Given the description of an element on the screen output the (x, y) to click on. 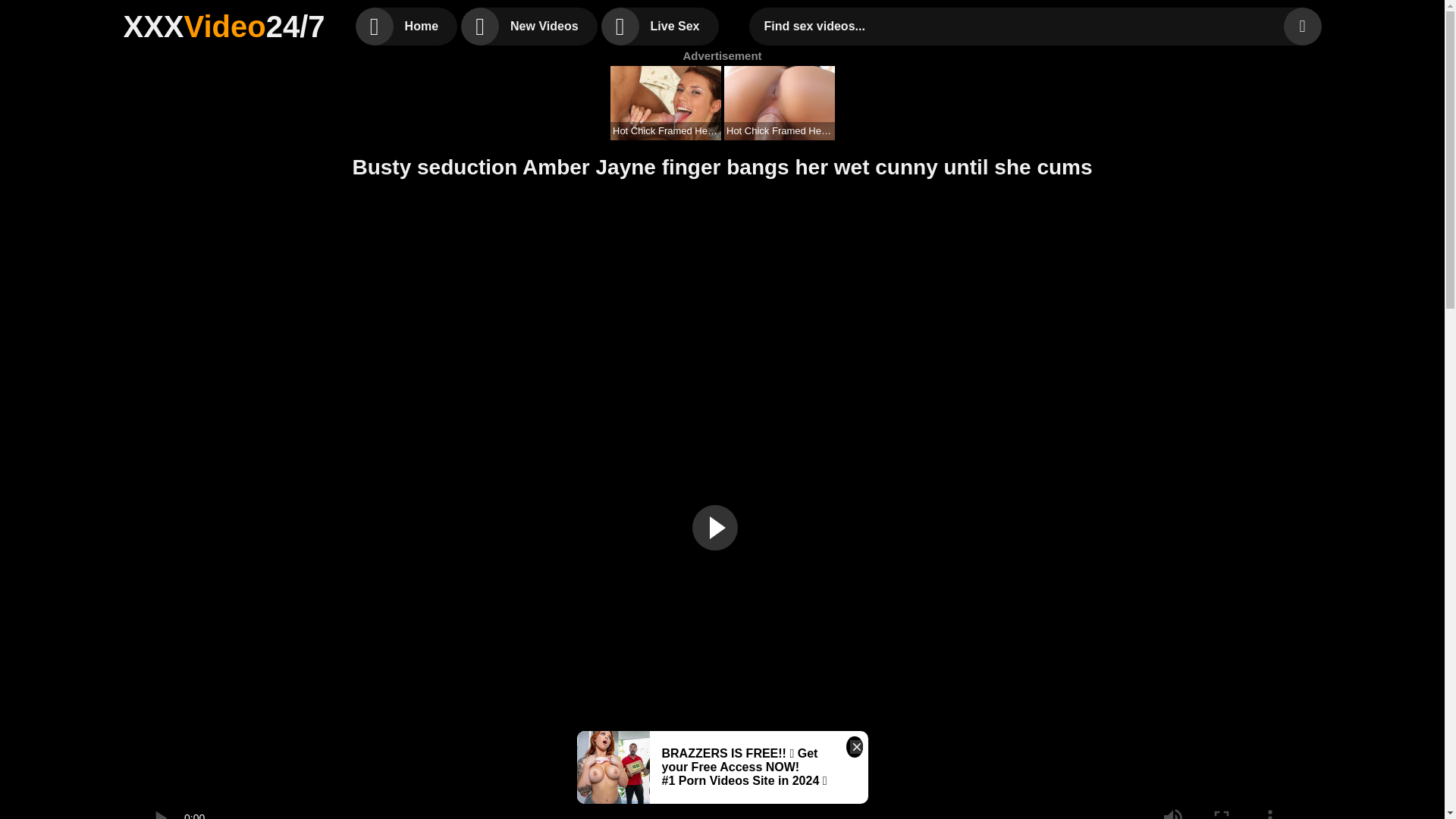
Home (406, 26)
Home (406, 26)
Use Latin letters, digits, space, - (1020, 26)
Live Sex (660, 26)
New Videos (528, 26)
Live Sex (660, 26)
Search (1301, 26)
New Videos (528, 26)
XXX Video 24 (223, 26)
